Given the description of an element on the screen output the (x, y) to click on. 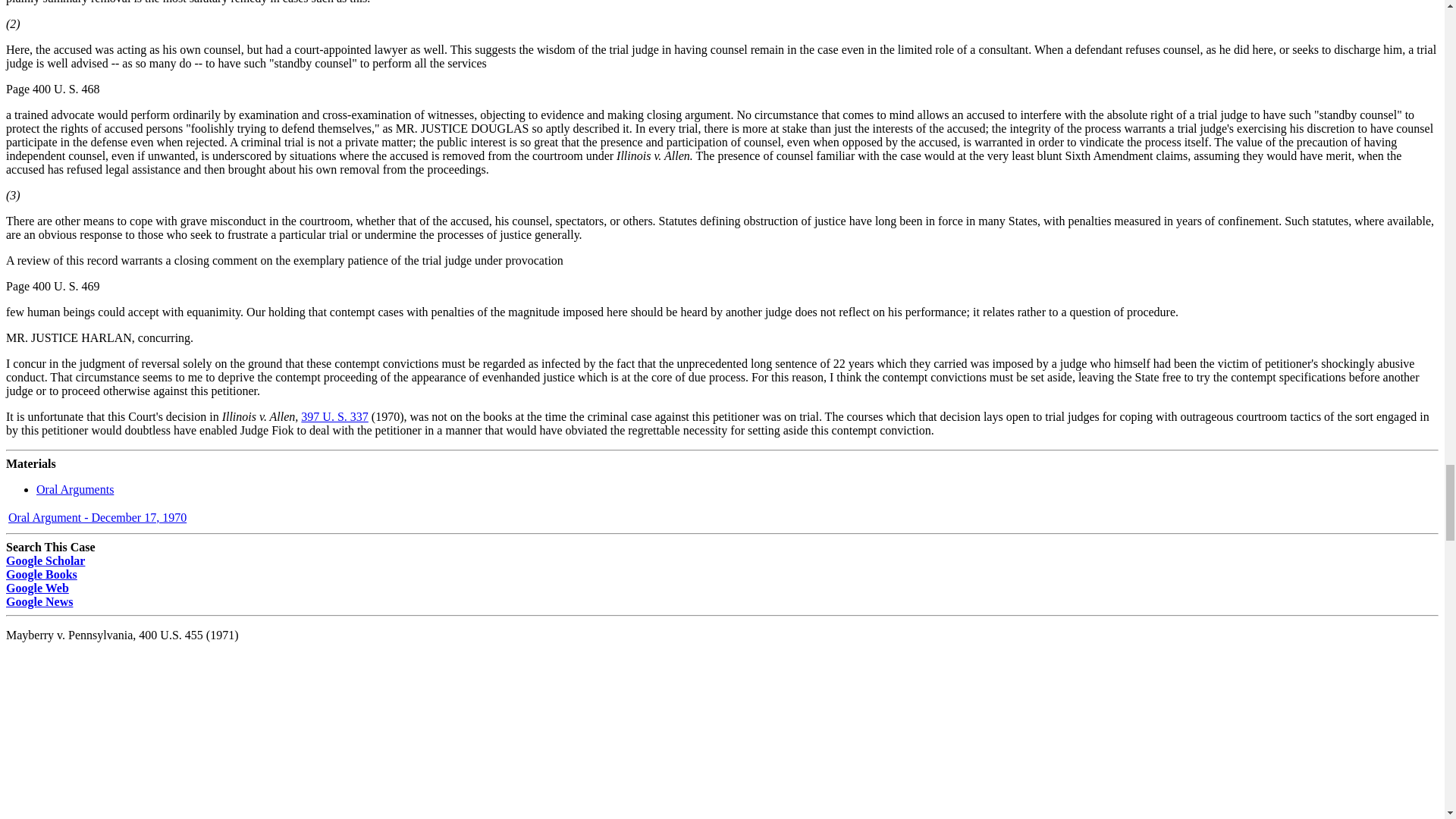
Law - Google News (38, 600)
Law - Google Books (41, 573)
Law - Google Scholar (44, 559)
Law - Google Web (36, 586)
